Given the description of an element on the screen output the (x, y) to click on. 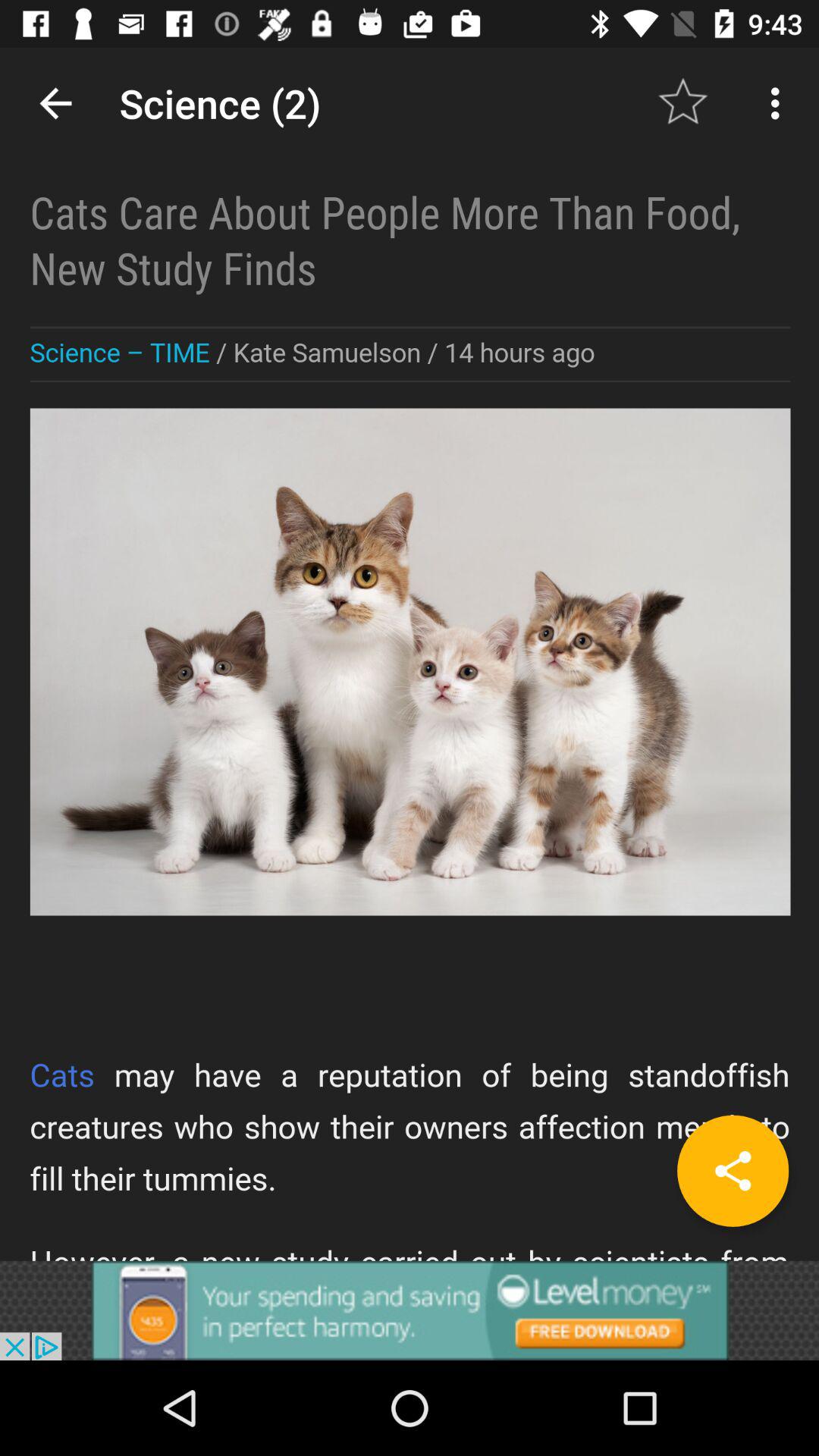
view advertisement (409, 1310)
